Given the description of an element on the screen output the (x, y) to click on. 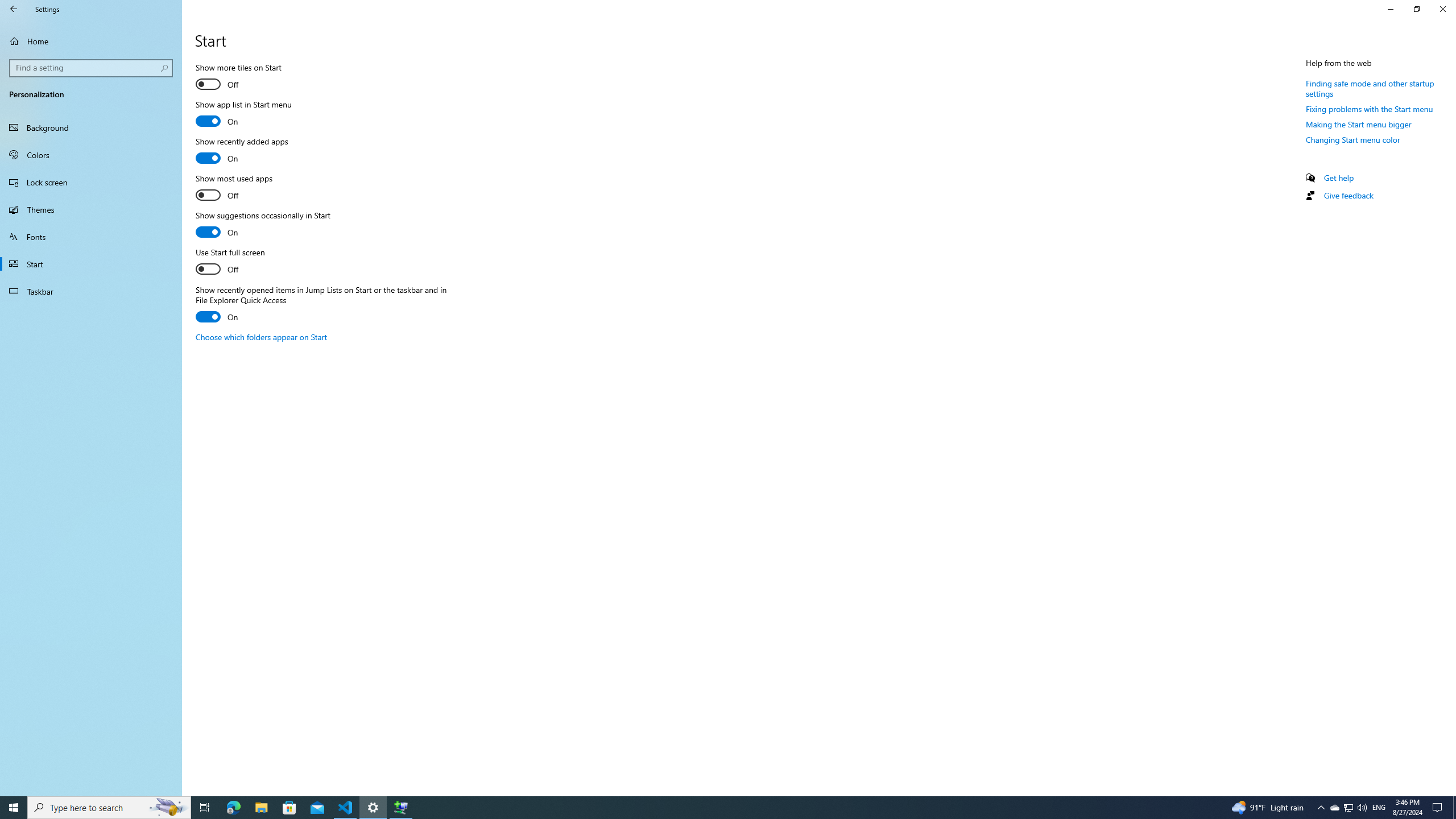
Tray Input Indicator - English (United States) (1378, 807)
Taskbar (91, 290)
Show most used apps (237, 187)
Type here to search (108, 807)
Start (13, 807)
Show desktop (1454, 807)
Microsoft Edge (233, 807)
Show more tiles on Start (238, 77)
Use Start full screen (237, 262)
Running applications (706, 807)
Q2790: 100% (1361, 807)
Notification Chevron (1320, 807)
Show app list in Start menu (243, 114)
Back (13, 9)
Colors (91, 154)
